Given the description of an element on the screen output the (x, y) to click on. 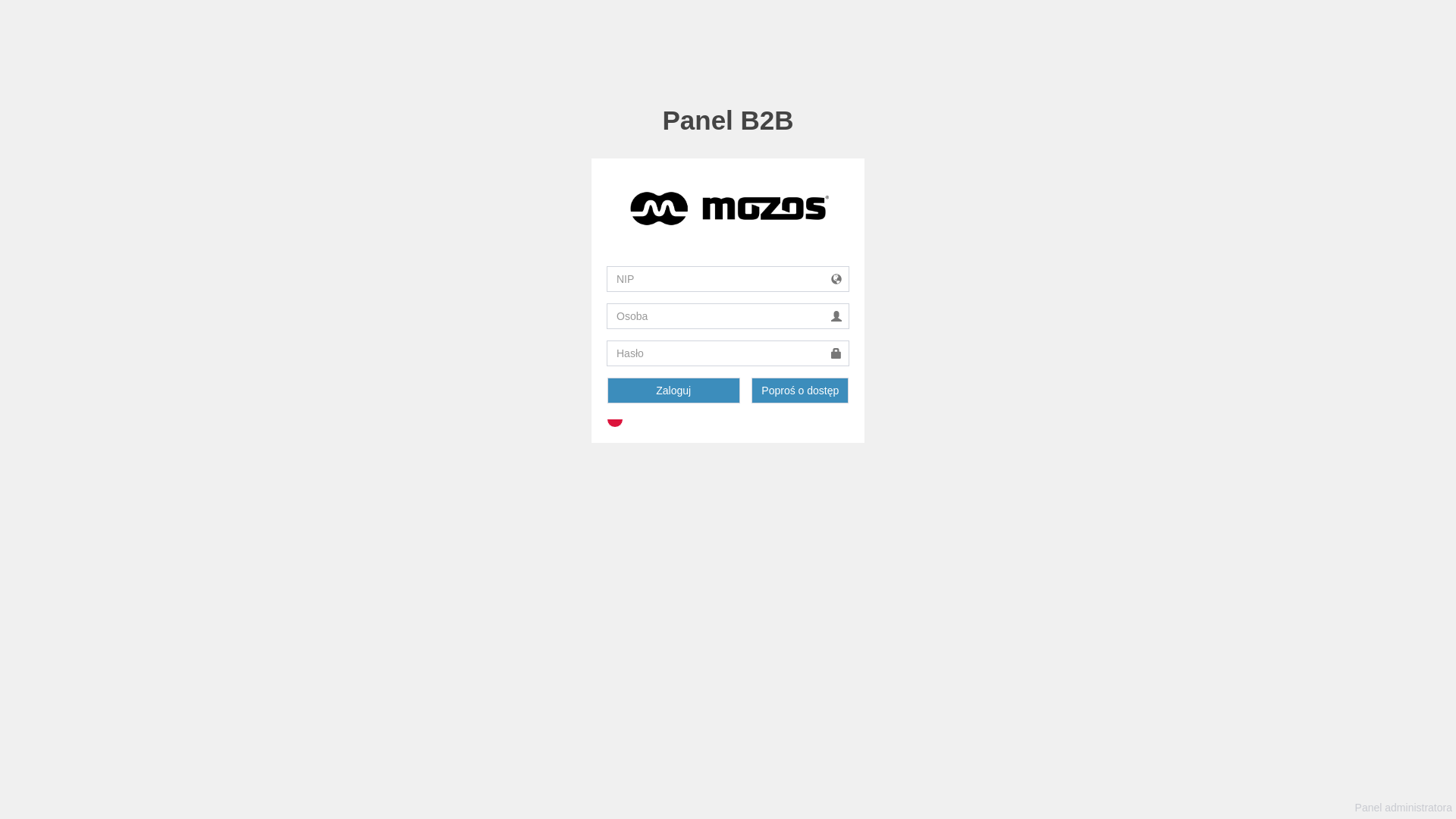
Panel administratora Element type: text (1403, 807)
Zaloguj Element type: text (673, 390)
Panel B2B Element type: text (727, 119)
